Given the description of an element on the screen output the (x, y) to click on. 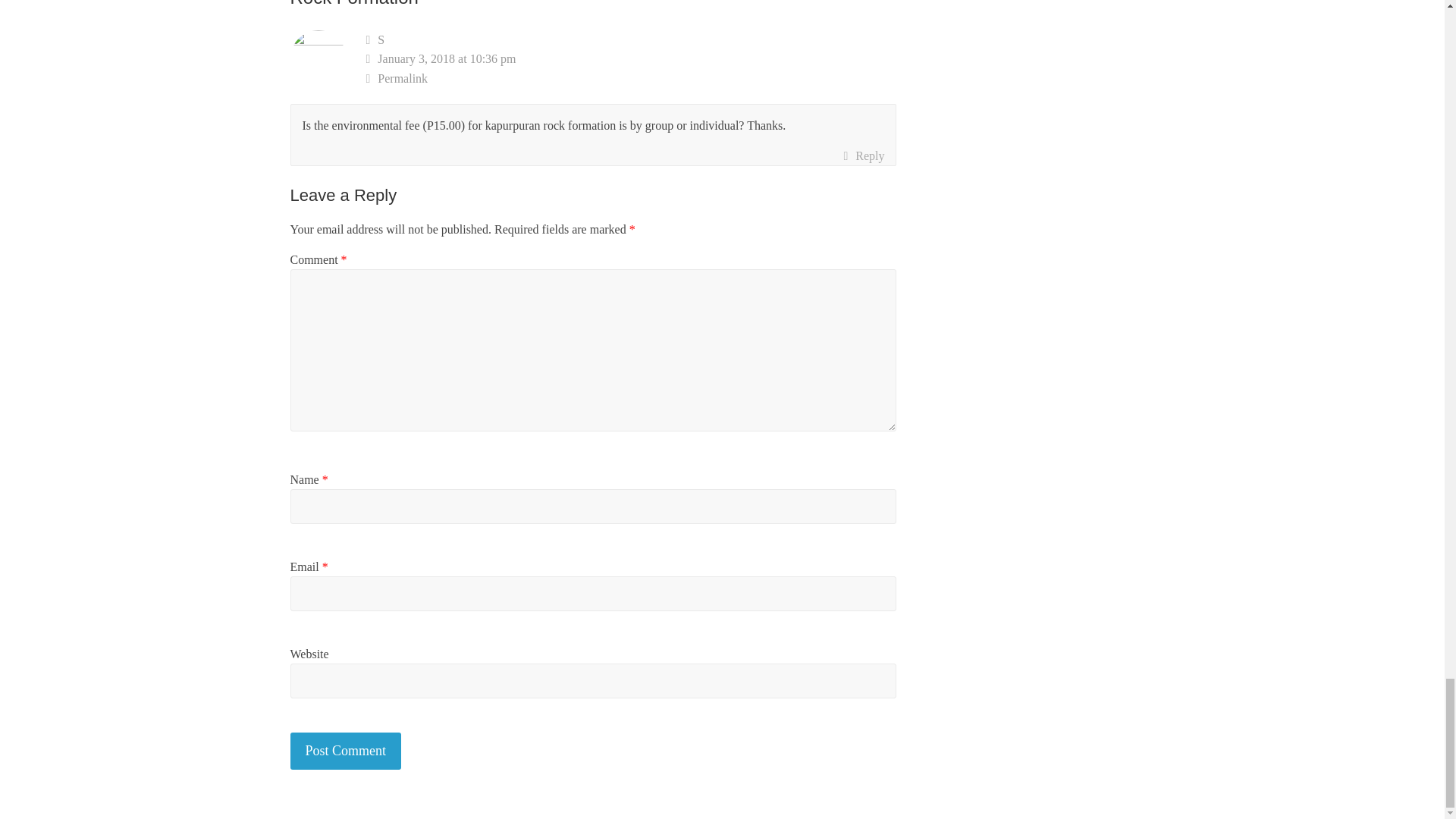
Post Comment (345, 750)
